Given the description of an element on the screen output the (x, y) to click on. 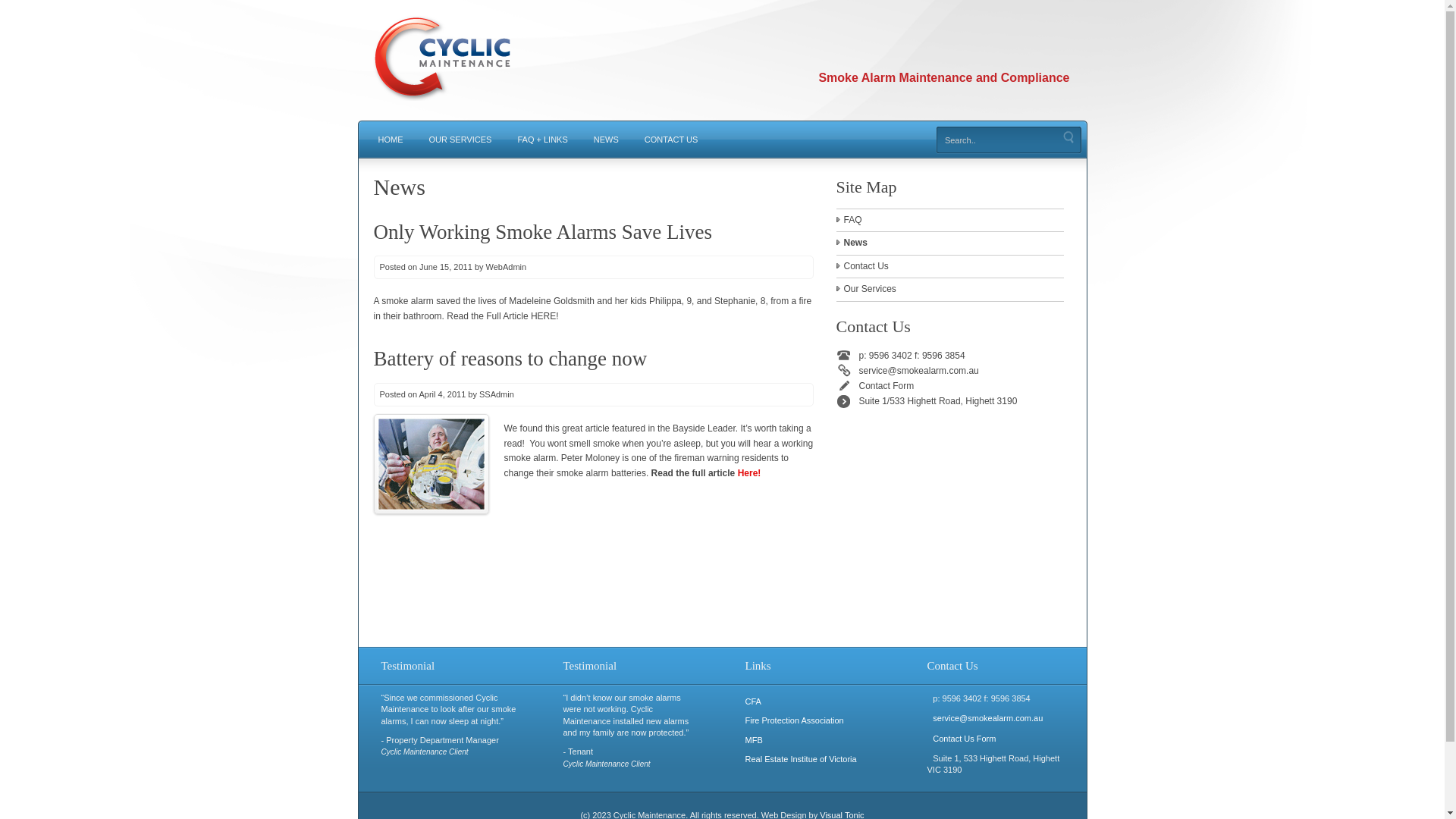
FAQ + LINKS Element type: text (542, 137)
CONTACT US Element type: text (671, 137)
Real Estate Institue of Victoria Element type: text (800, 758)
NEWS Element type: text (605, 137)
Our Services Element type: text (953, 289)
service@smokealarm.com.au Element type: text (987, 717)
service@smokealarm.com.au Element type: text (960, 370)
Battery of reasons to change now Element type: text (509, 358)
OUR SERVICES Element type: text (459, 137)
Only Working Smoke Alarms Save Lives Element type: text (542, 230)
Here! Element type: text (749, 472)
Fire Protection Association Element type: text (793, 719)
CFA Element type: text (752, 701)
HOME Element type: text (390, 137)
Contact Us Element type: text (953, 266)
Cyclic Maintenance Element type: hover (444, 112)
Contact Us Form Element type: text (963, 738)
Contact Form Element type: text (960, 385)
FAQ Element type: text (953, 220)
MFB Element type: text (753, 739)
News Element type: text (953, 243)
